Given the description of an element on the screen output the (x, y) to click on. 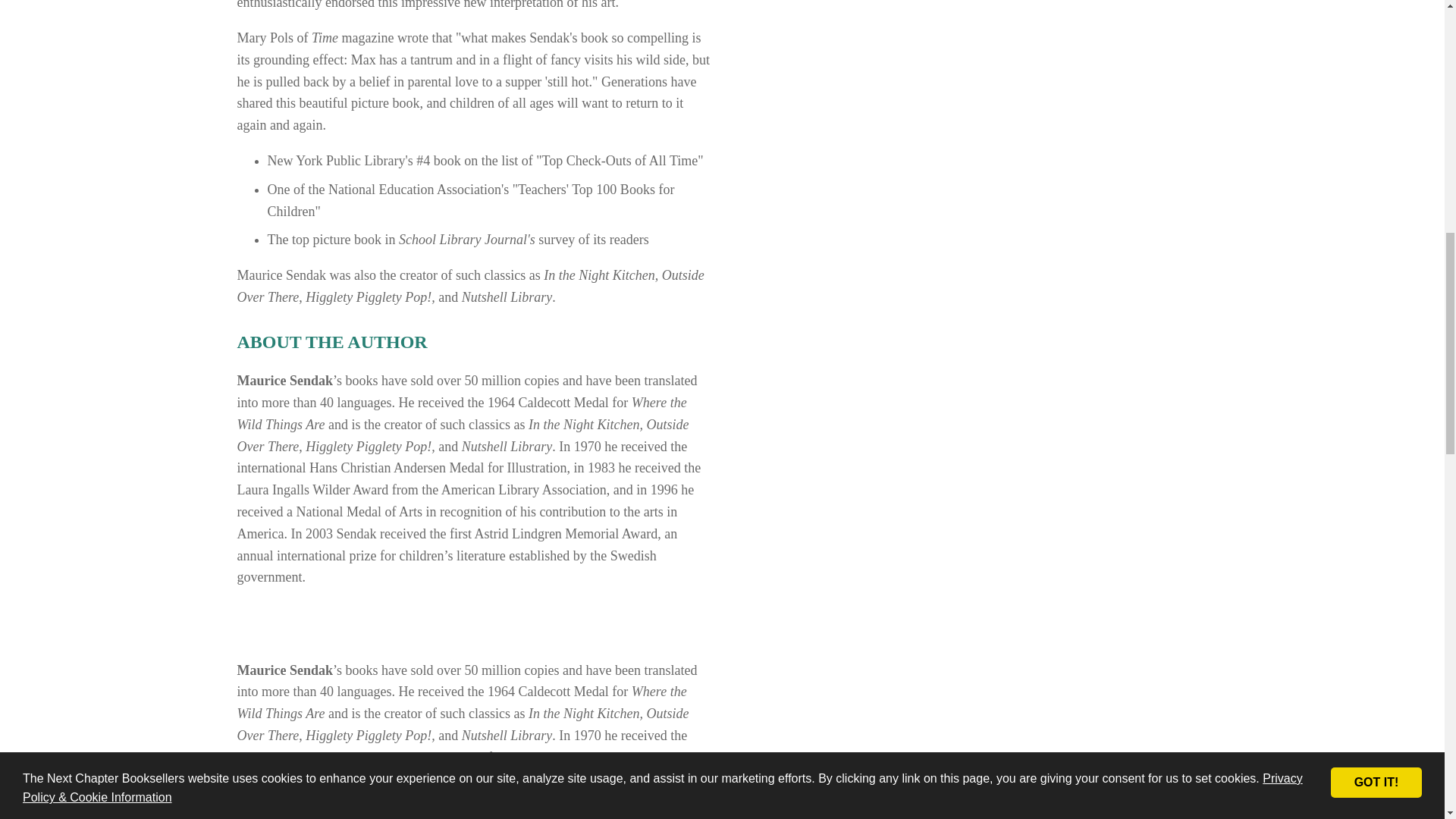
GOT IT! (1376, 55)
